Given the description of an element on the screen output the (x, y) to click on. 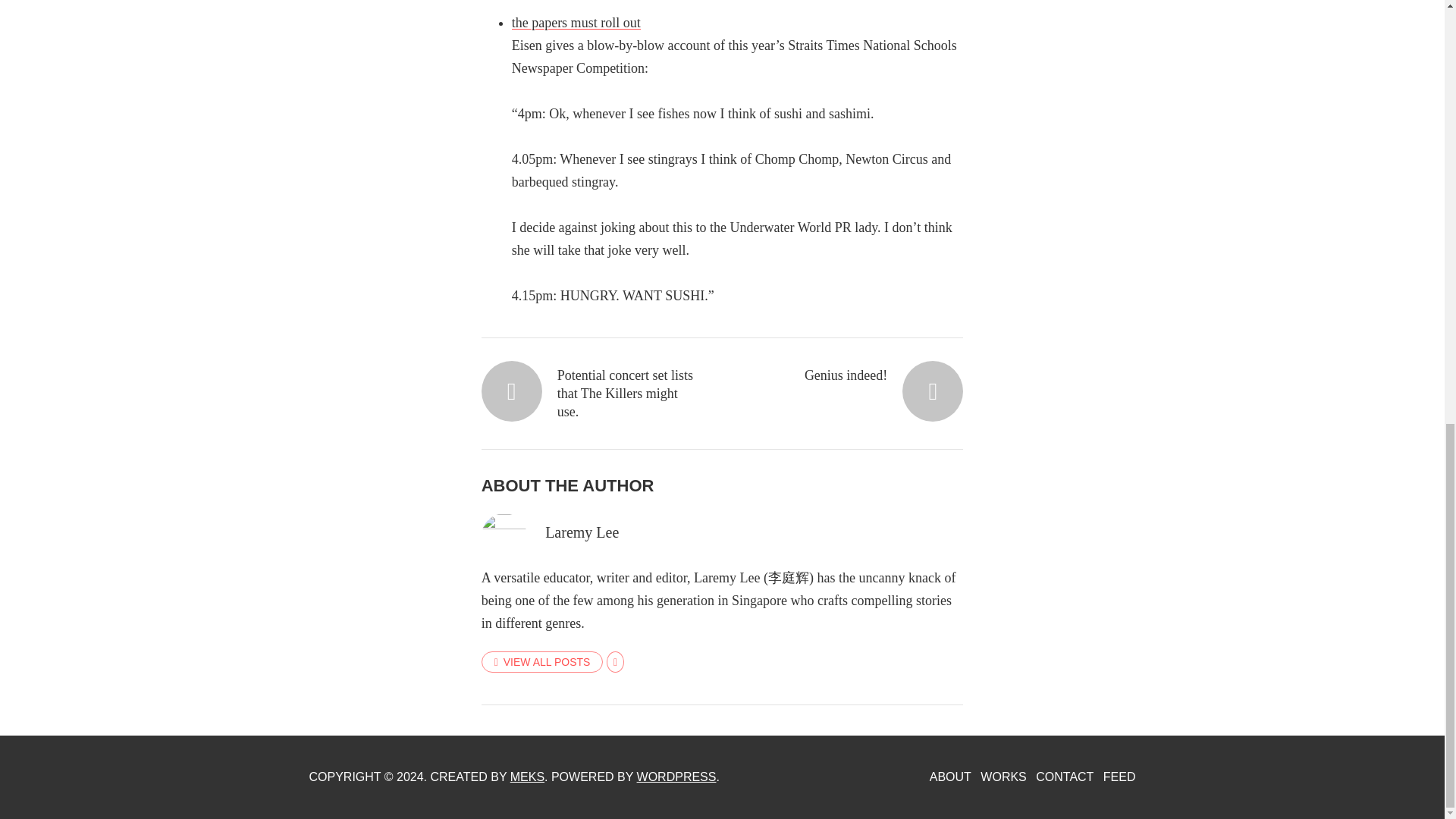
the papers must roll out (576, 22)
VIEW ALL POSTS (542, 661)
Genius indeed! (853, 375)
FEED (1119, 776)
WORKS (1002, 776)
ABOUT (950, 776)
MEKS (527, 776)
CONTACT (1064, 776)
Potential concert set lists that The Killers might use. (590, 393)
WORDPRESS (676, 776)
